Given the description of an element on the screen output the (x, y) to click on. 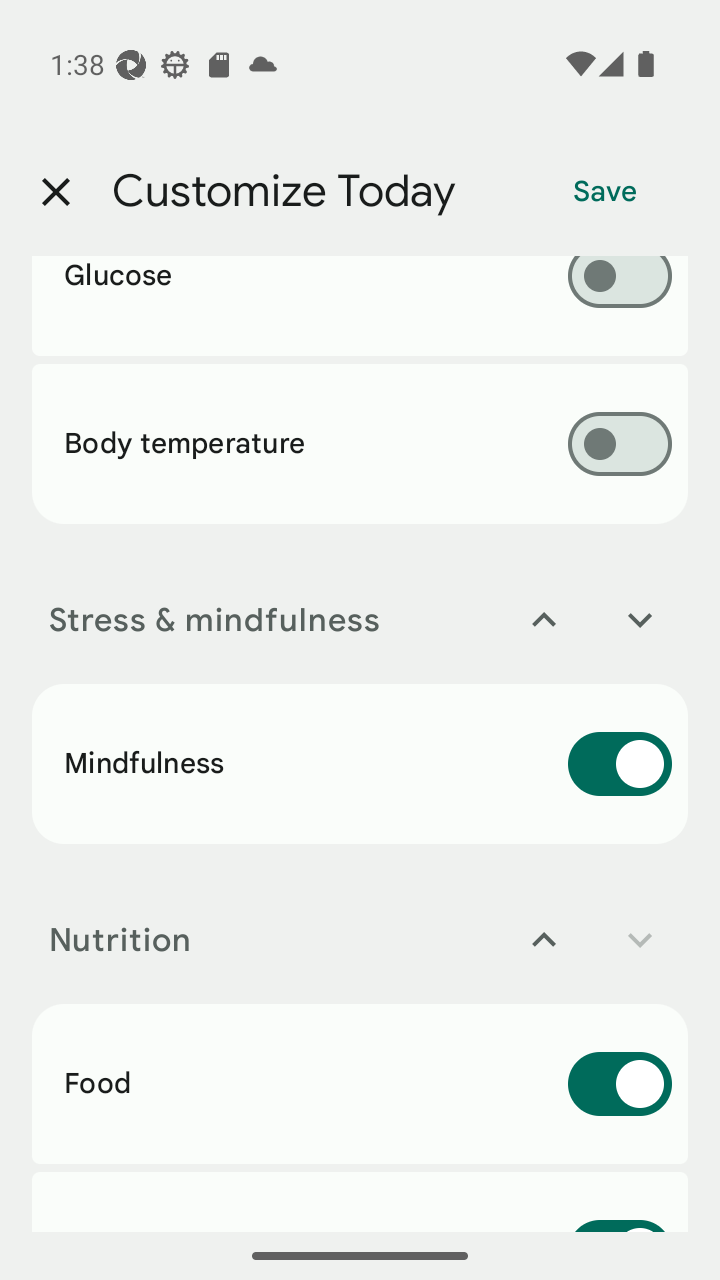
Close (55, 191)
Save (605, 191)
Glucose (359, 305)
Body temperature (359, 443)
Move Stress & mindfulness up (543, 620)
Move Stress & mindfulness down (639, 620)
Mindfulness (359, 763)
Move Nutrition up (543, 940)
Move Nutrition down (639, 940)
Food (359, 1083)
